Given the description of an element on the screen output the (x, y) to click on. 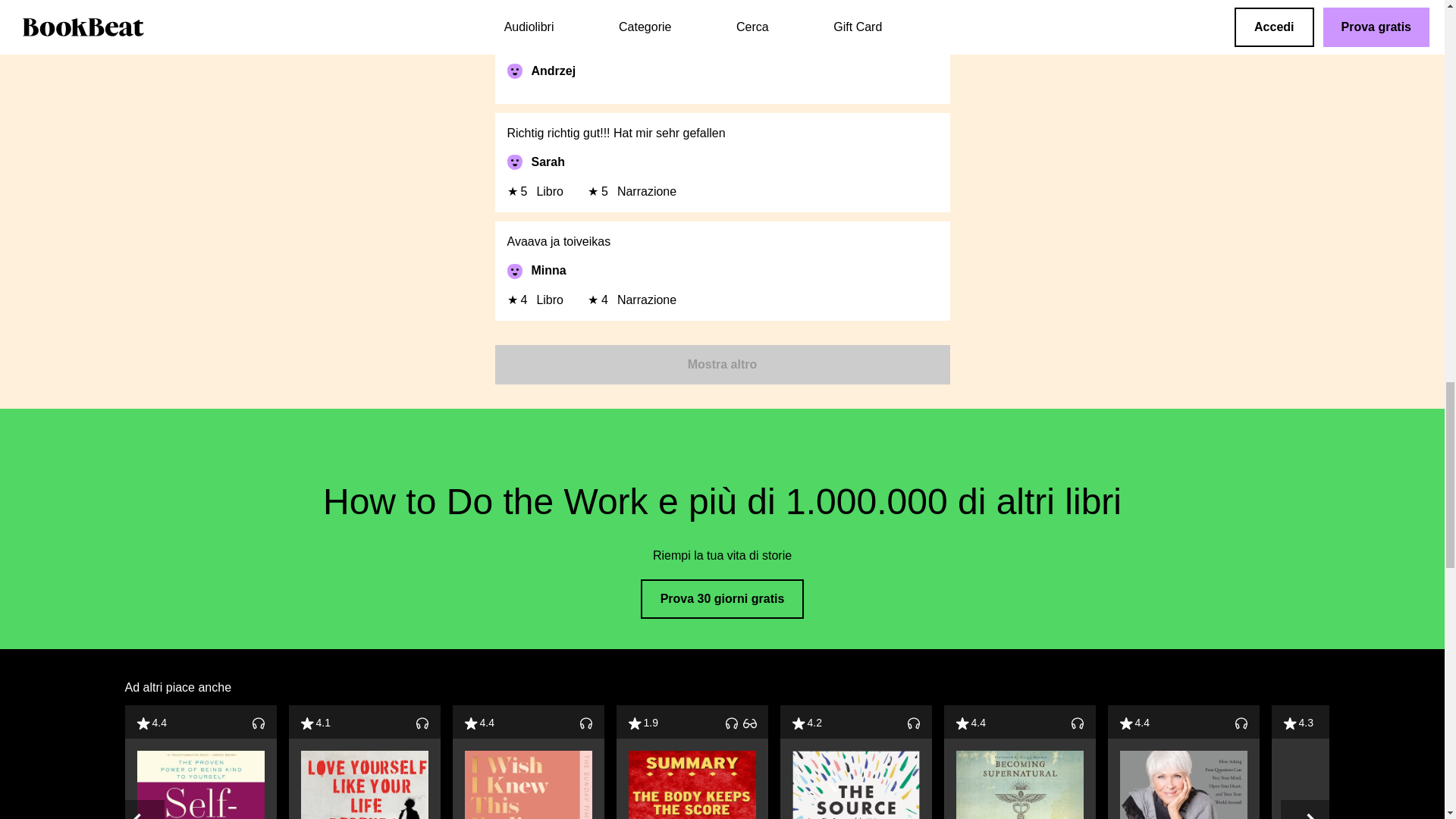
Item 4 of 20 (691, 762)
Item 2 of 20 (363, 762)
Prova 30 giorni gratis (722, 599)
Self-Compassion (199, 785)
